Given the description of an element on the screen output the (x, y) to click on. 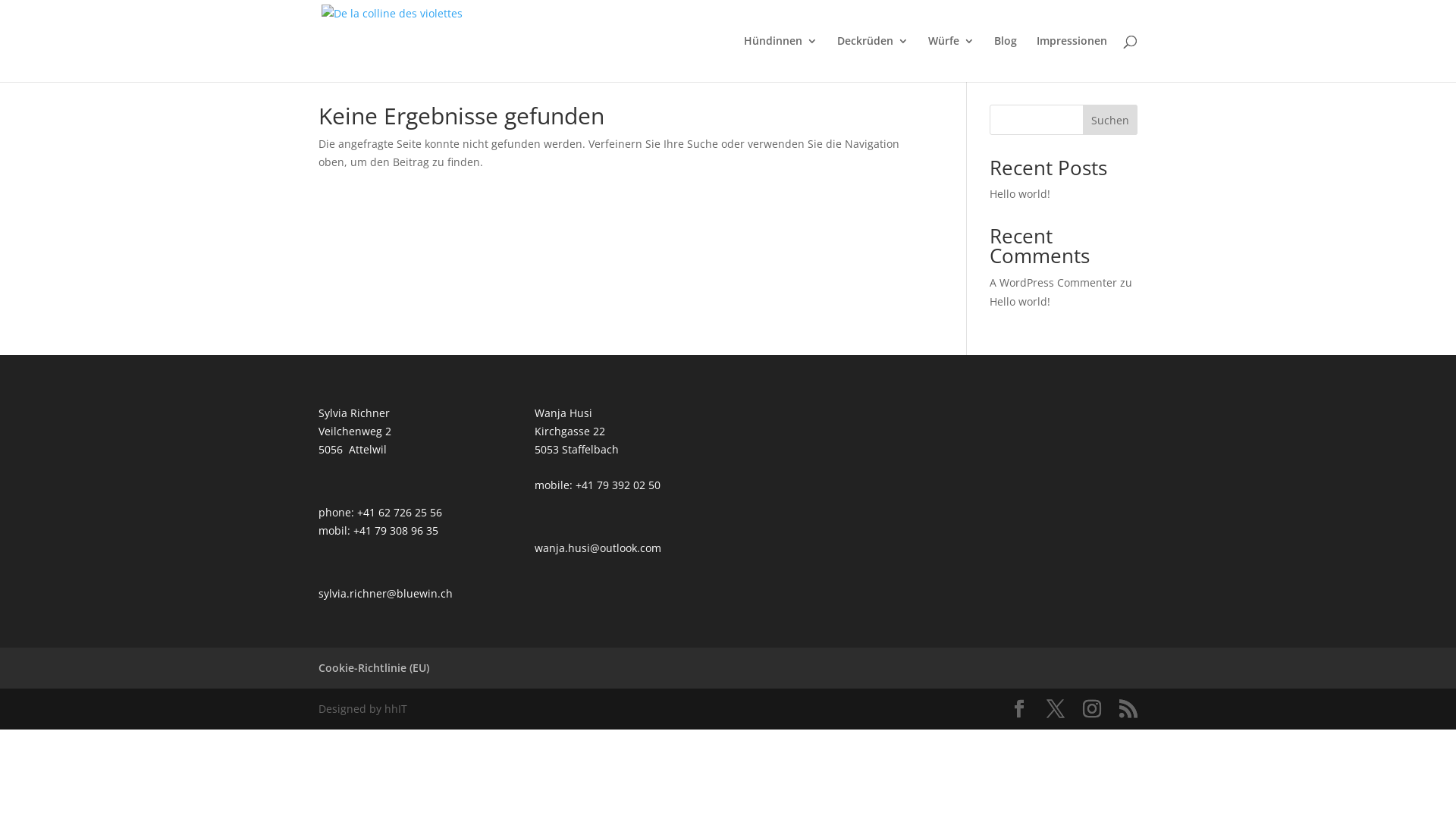
Hello world! Element type: text (1019, 301)
A WordPress Commenter Element type: text (1053, 282)
Blog Element type: text (1005, 58)
Suchen Element type: text (1109, 119)
Hello world! Element type: text (1019, 193)
sylvia.richner@bluewin.ch Element type: text (385, 593)
Impressionen Element type: text (1071, 58)
Cookie-Richtlinie (EU) Element type: text (373, 667)
